Given the description of an element on the screen output the (x, y) to click on. 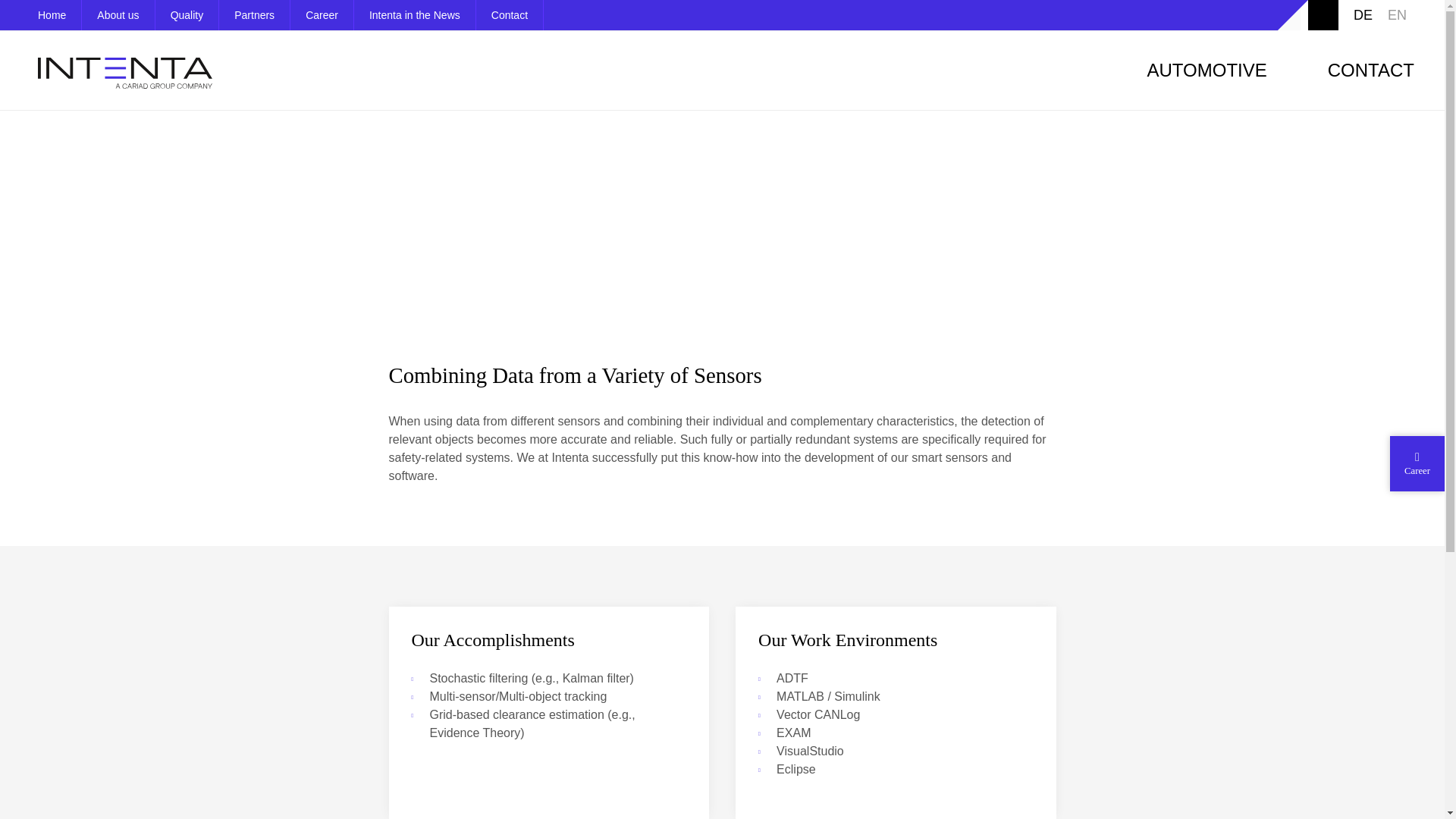
Home (40, 15)
Career (321, 15)
Quality (187, 15)
Contact (509, 15)
Intenta in the News (414, 15)
Quality (187, 15)
About us (117, 15)
Intenta Automotive GmbH - Chemnitz (40, 15)
Datenfusion (1363, 15)
DE (1363, 15)
